Given the description of an element on the screen output the (x, y) to click on. 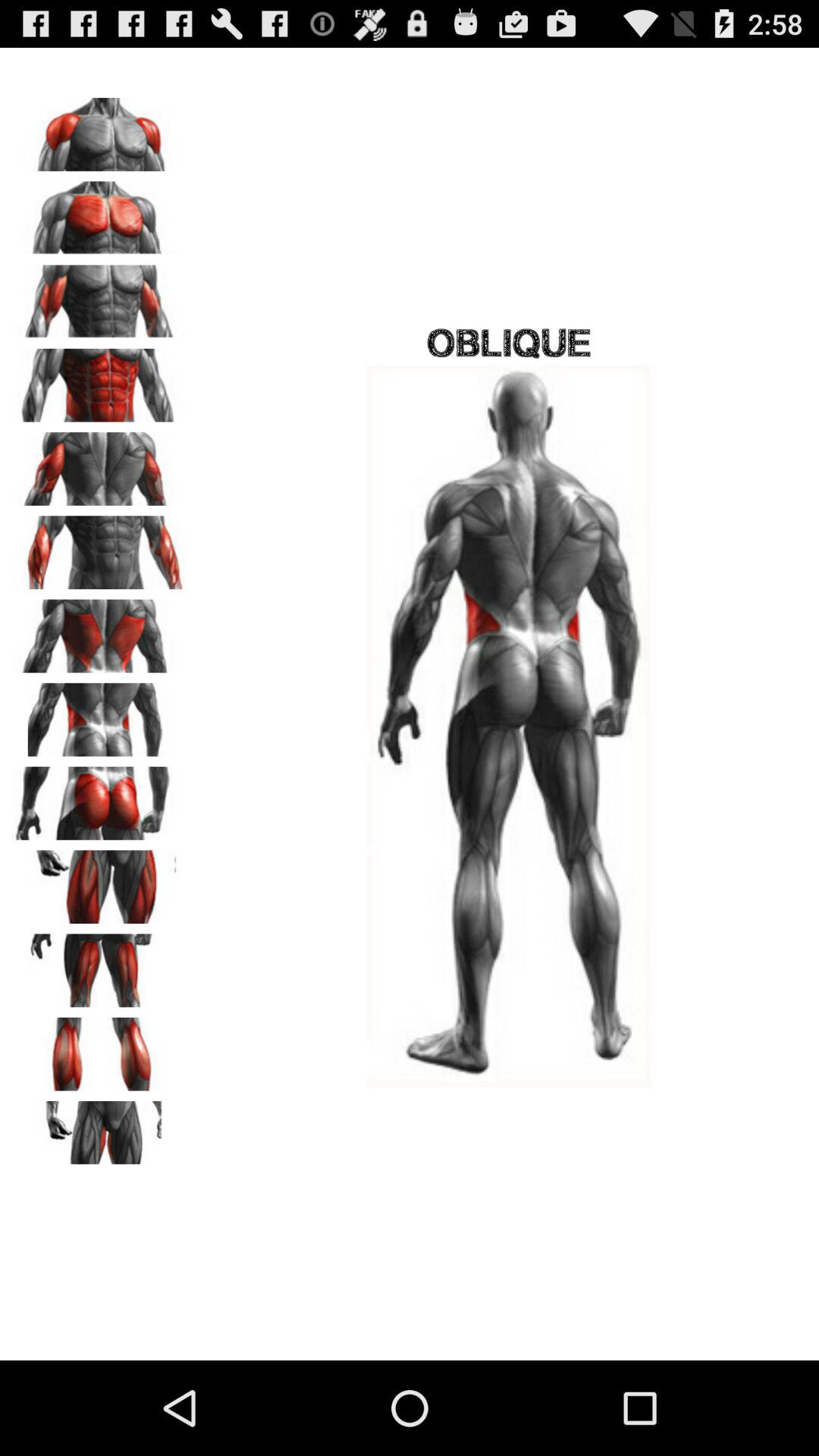
showing where your chest muscles are (99, 212)
